Given the description of an element on the screen output the (x, y) to click on. 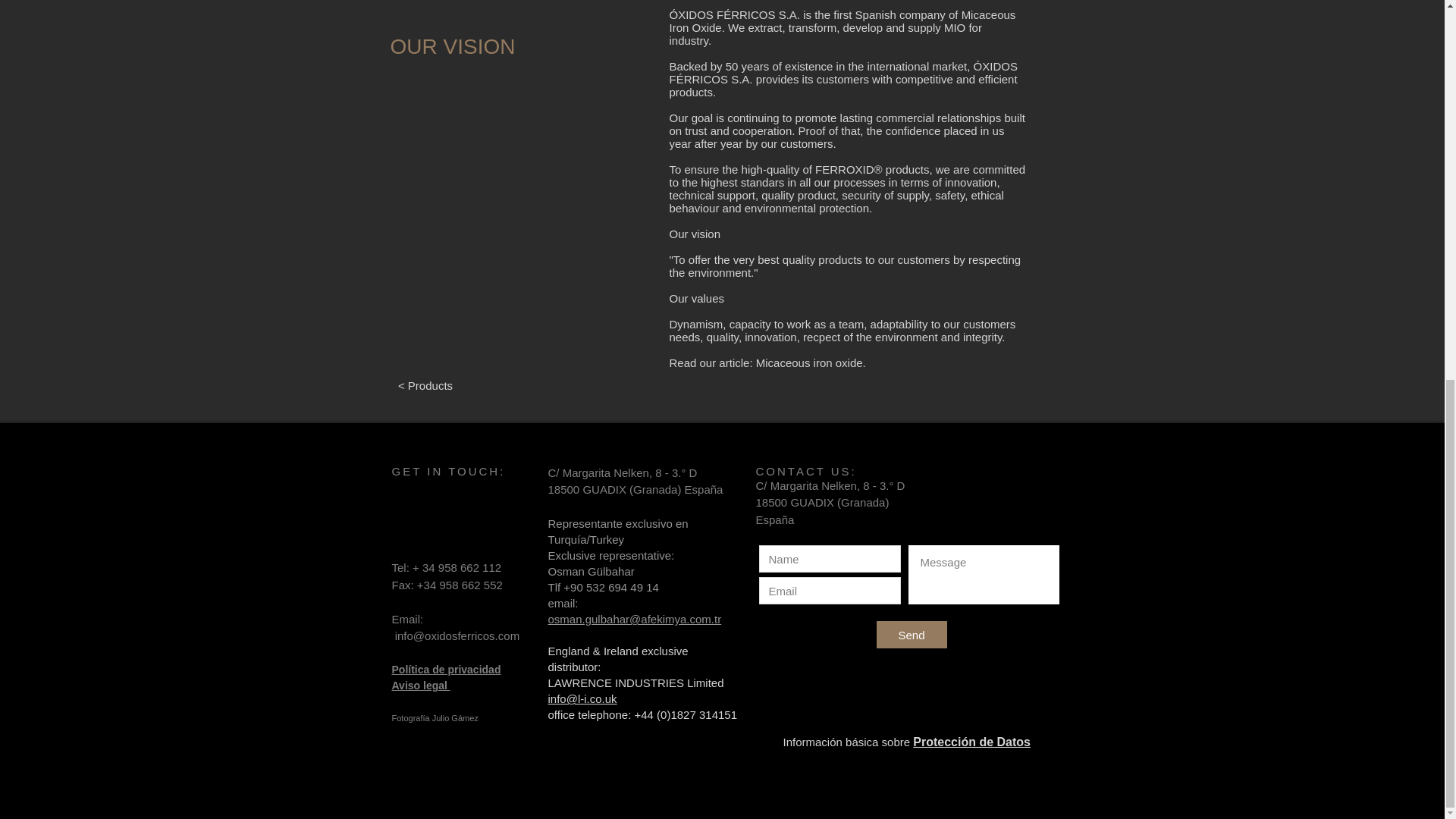
Aviso legal  (420, 685)
Send (911, 634)
